Given the description of an element on the screen output the (x, y) to click on. 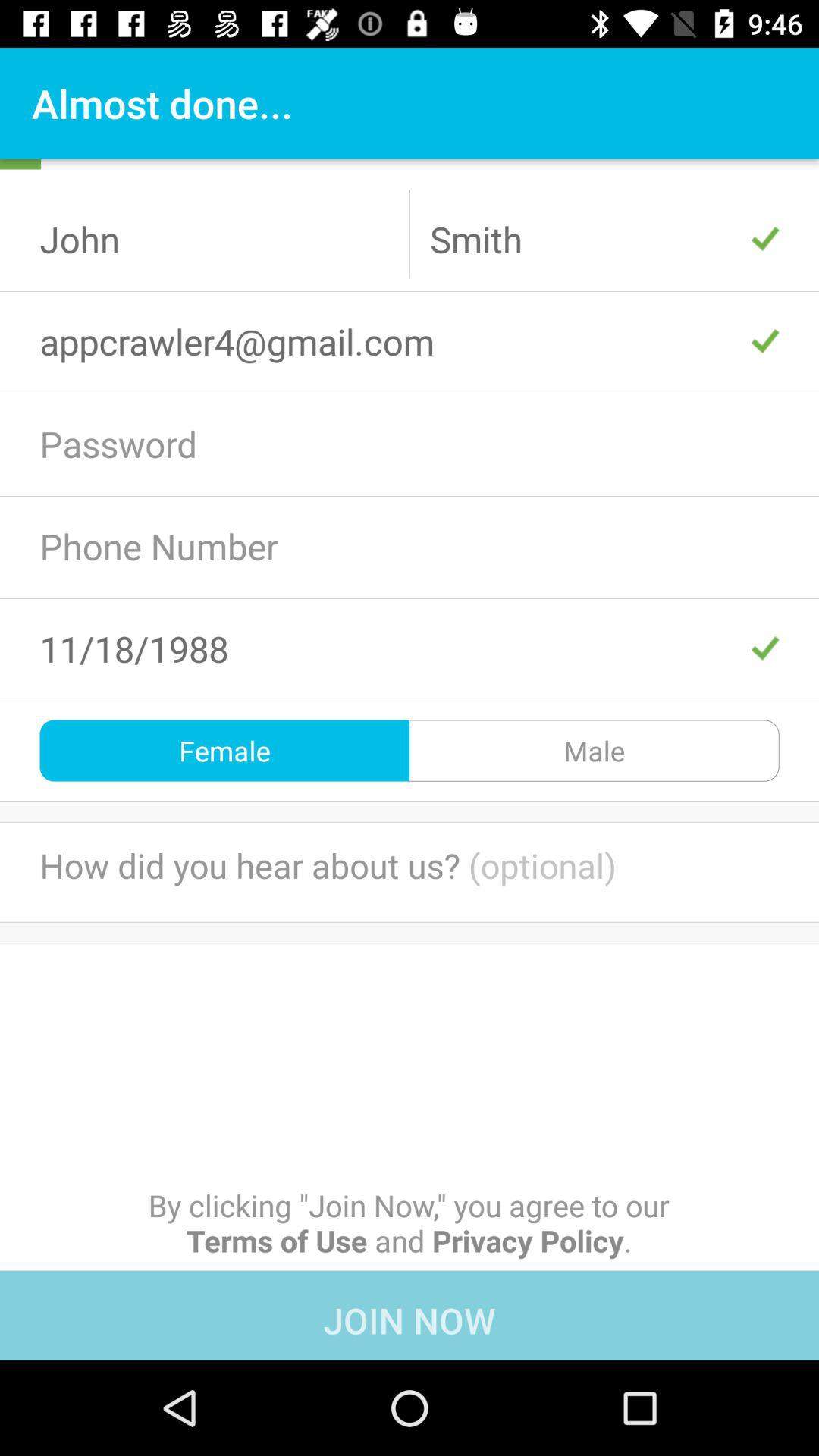
tap john icon (214, 239)
